Given the description of an element on the screen output the (x, y) to click on. 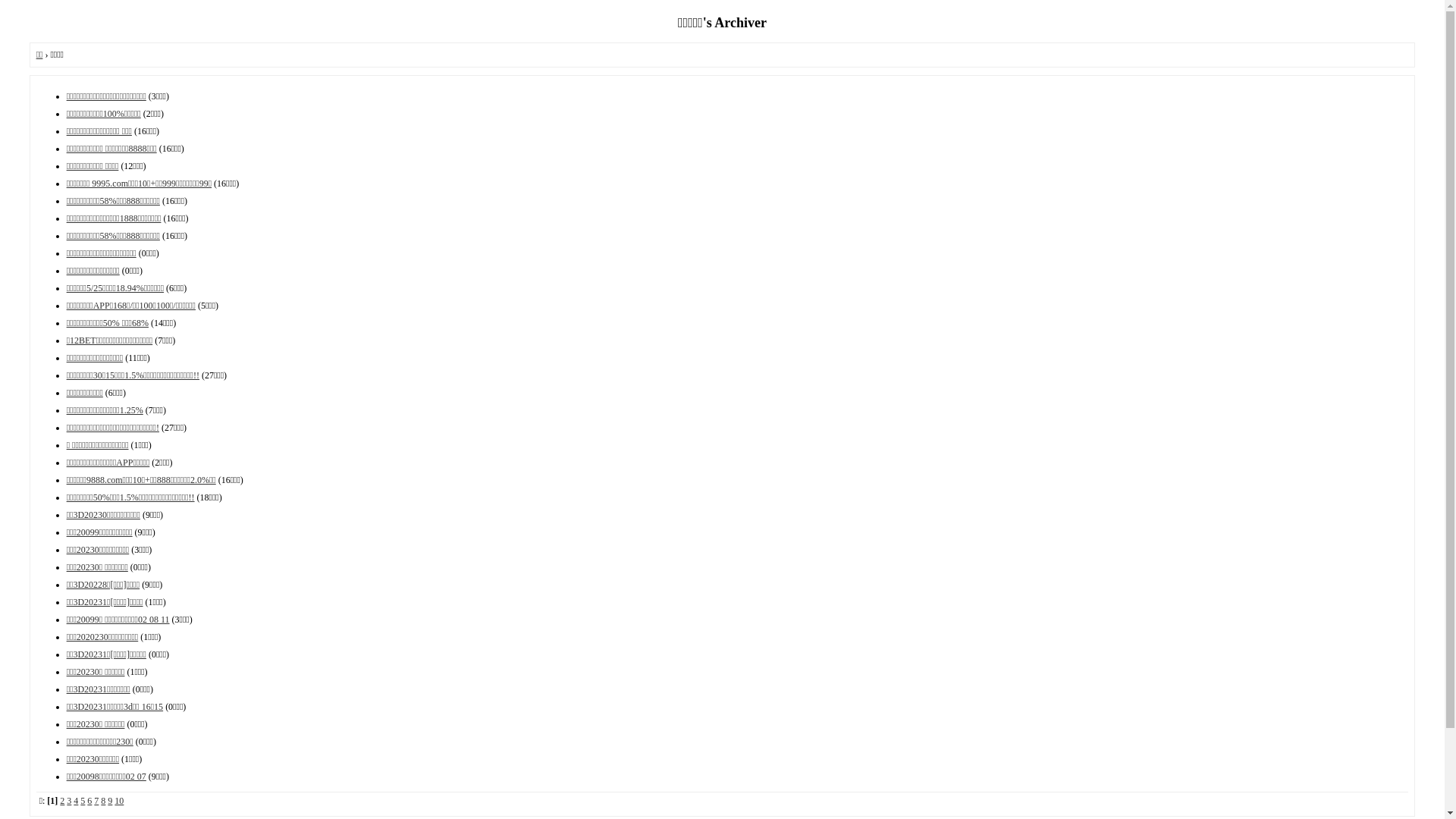
10 Element type: text (118, 800)
8 Element type: text (102, 800)
4 Element type: text (75, 800)
5 Element type: text (82, 800)
6 Element type: text (89, 800)
2 Element type: text (61, 800)
3 Element type: text (68, 800)
7 Element type: text (96, 800)
9 Element type: text (109, 800)
